Given the description of an element on the screen output the (x, y) to click on. 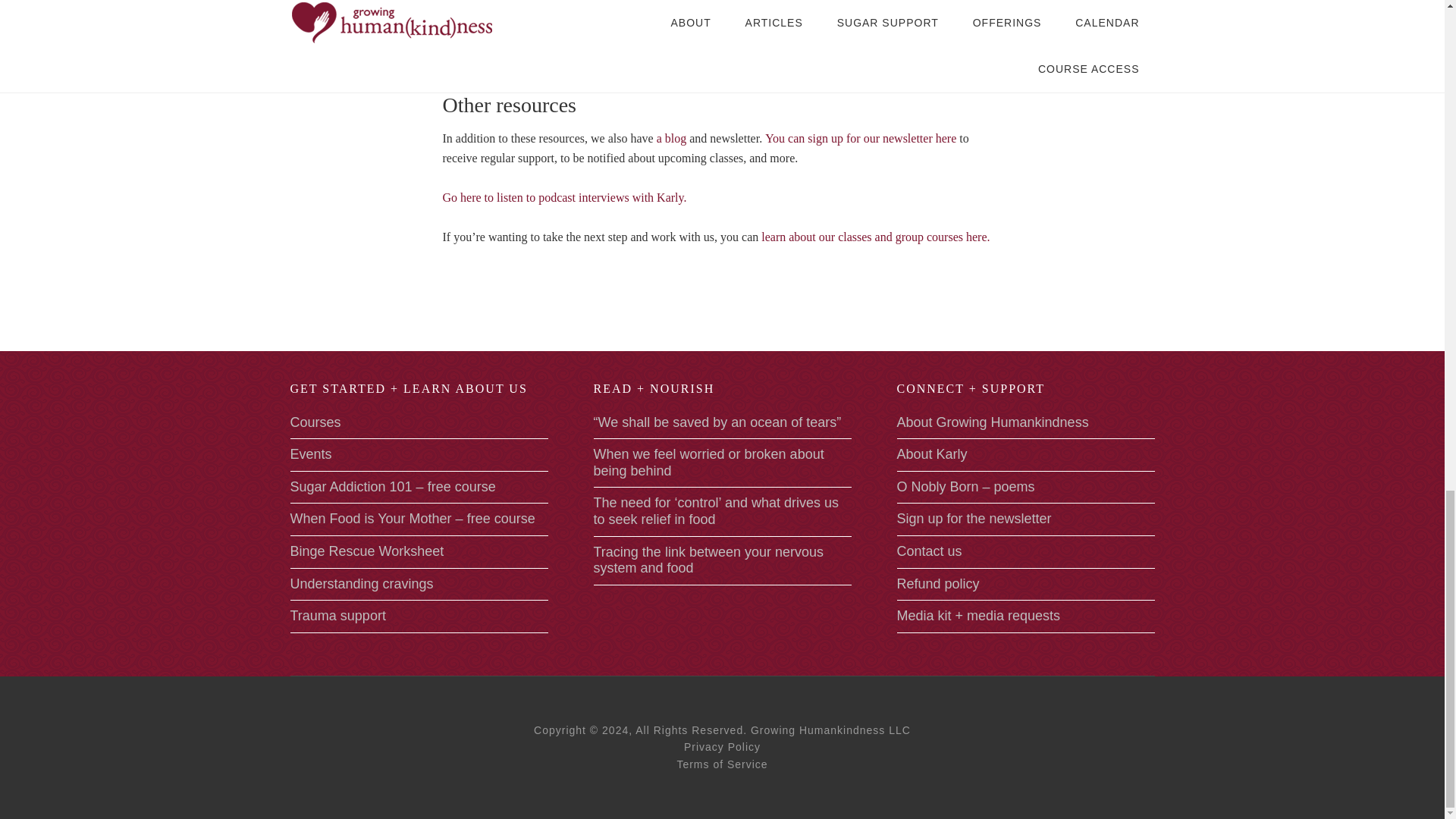
You can sign up for our newsletter here (860, 137)
When we feel worried or broken about being behind (708, 462)
Binge Rescue Worksheet (366, 550)
Trauma support (337, 615)
learn about our classes and group courses here. (875, 236)
Courses (314, 421)
Understanding cravings (360, 583)
Cravings support page (501, 62)
Events (310, 453)
Contact us (928, 550)
